Given the description of an element on the screen output the (x, y) to click on. 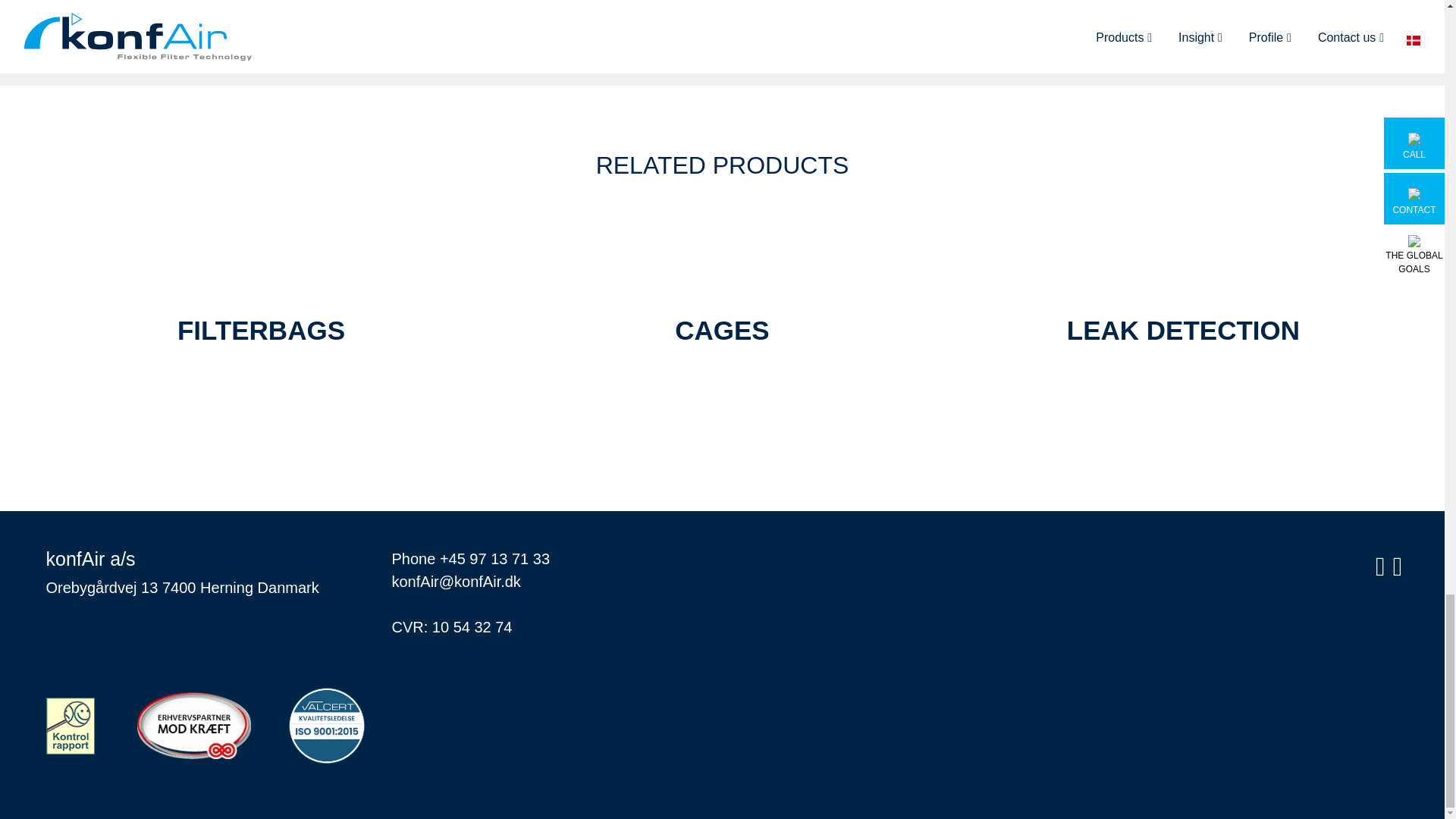
CAGES (721, 333)
LEAK DETECTION (1182, 333)
SEND MESSAGE (1026, 37)
FILTERBAGS (261, 333)
SEND MESSAGE (1026, 37)
